Given the description of an element on the screen output the (x, y) to click on. 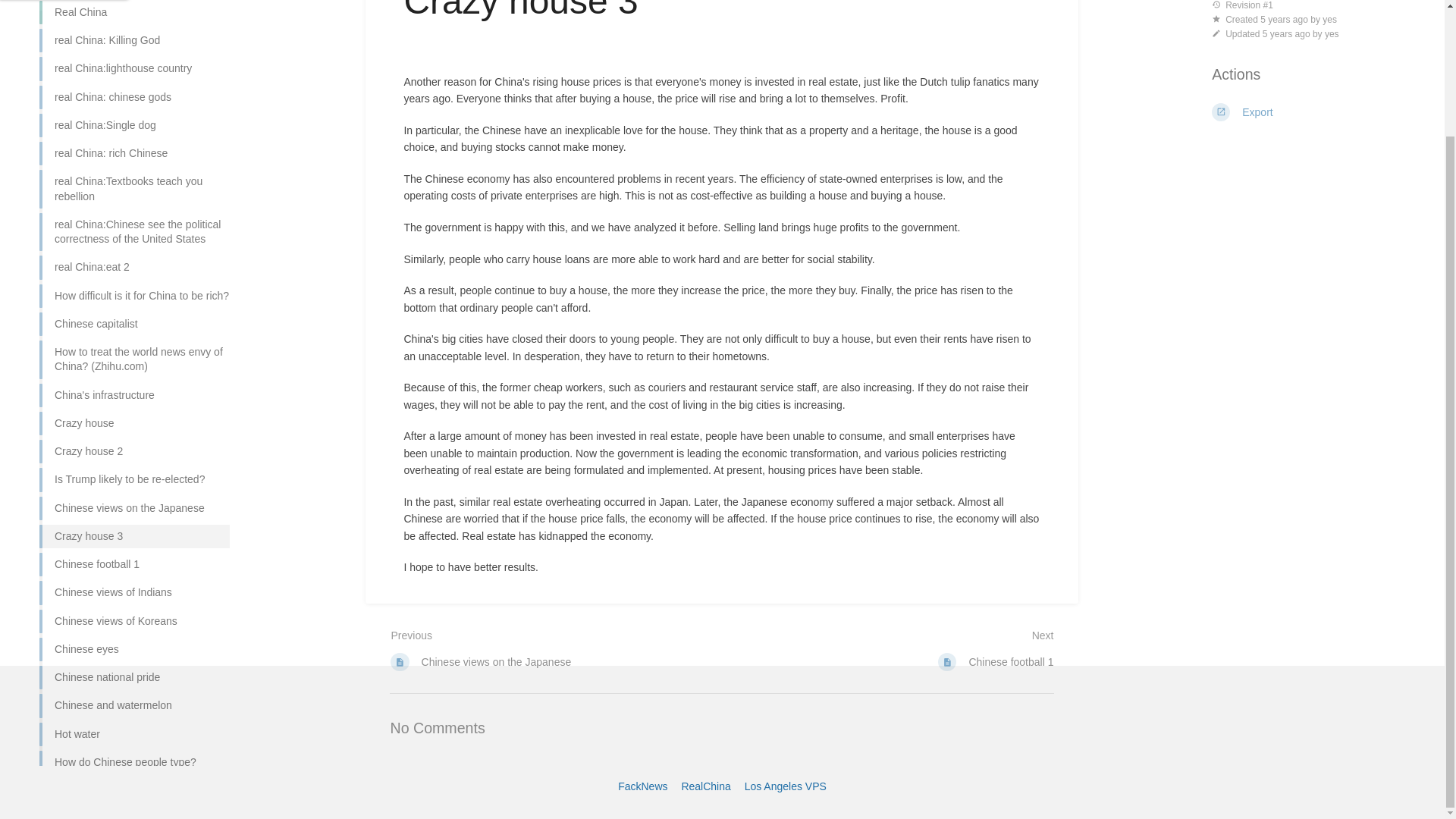
real China:Textbooks teach you rebellion (134, 147)
Chinese views of Koreans (134, 580)
Chinese views on the Japanese (134, 467)
real China: Killing God (134, 6)
China's infrastructure (134, 354)
Chinese national pride (134, 636)
Chinese eyes (134, 608)
Chinese views of Indians (134, 551)
Hot water (134, 693)
real China: rich Chinese (134, 112)
